Given the description of an element on the screen output the (x, y) to click on. 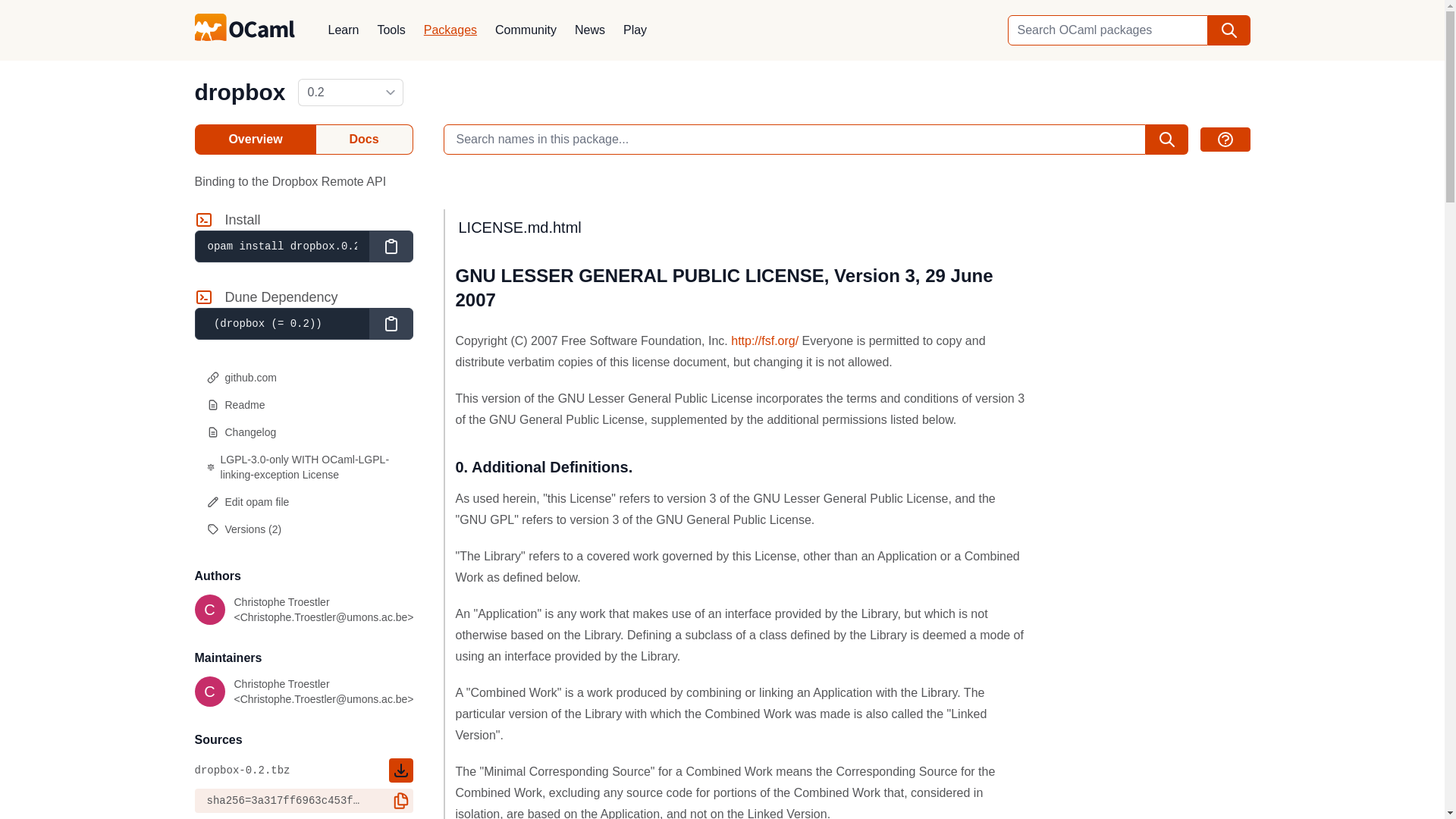
Copy to clipboard (390, 246)
show search instructions (1224, 139)
copy checksum to clipboard (400, 800)
News (590, 30)
Play (635, 30)
LGPL-3.0-only WITH OCaml-LGPL-linking-exception License (302, 466)
Copy to clipboard (390, 323)
Community (526, 30)
Readme (302, 404)
Changelog (302, 431)
Learn (343, 30)
Packages (450, 30)
dropbox (239, 91)
github.com (302, 377)
Docs (364, 139)
